Given the description of an element on the screen output the (x, y) to click on. 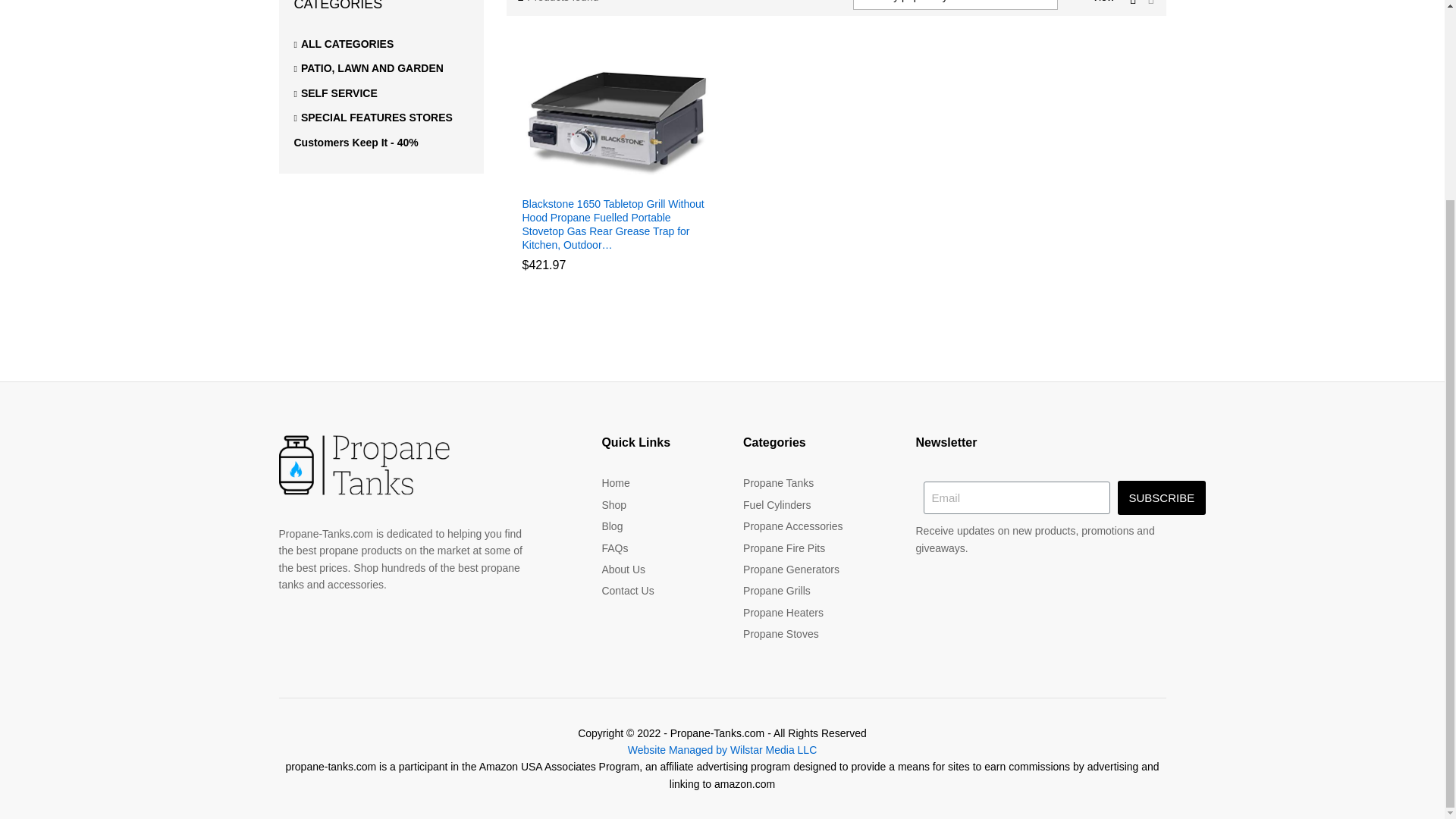
Sort by popularity (996, 79)
ALL CATEGORIES (344, 43)
SPECIAL FEATURES STORES (373, 117)
Sort by price: low to high (1013, 79)
PATIO, LAWN AND GARDEN (369, 68)
Sort by average rating (1007, 79)
SELF SERVICE (335, 92)
Sort by latest (986, 79)
